Given the description of an element on the screen output the (x, y) to click on. 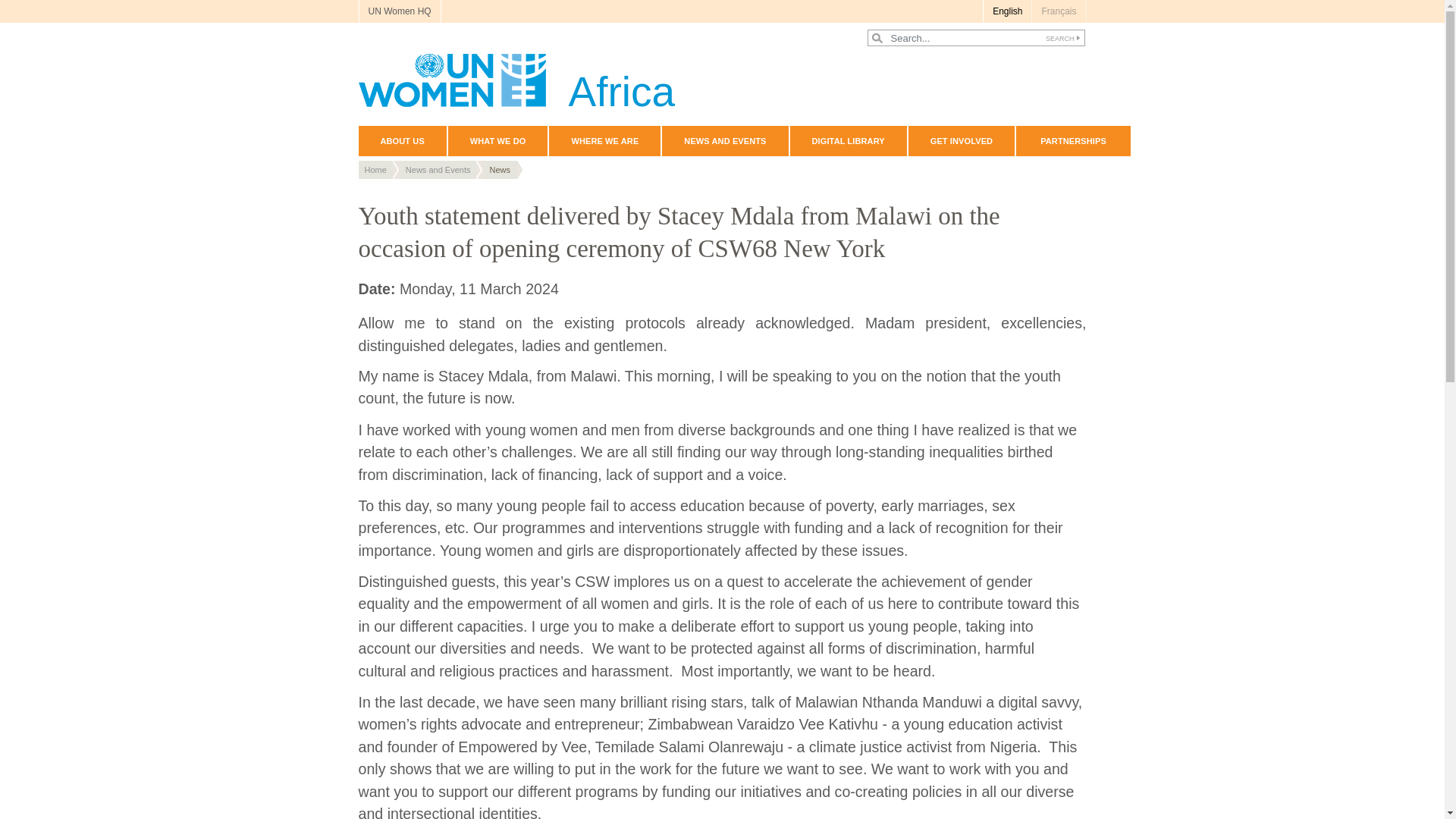
UN Women (516, 80)
Search (1060, 38)
